Given the description of an element on the screen output the (x, y) to click on. 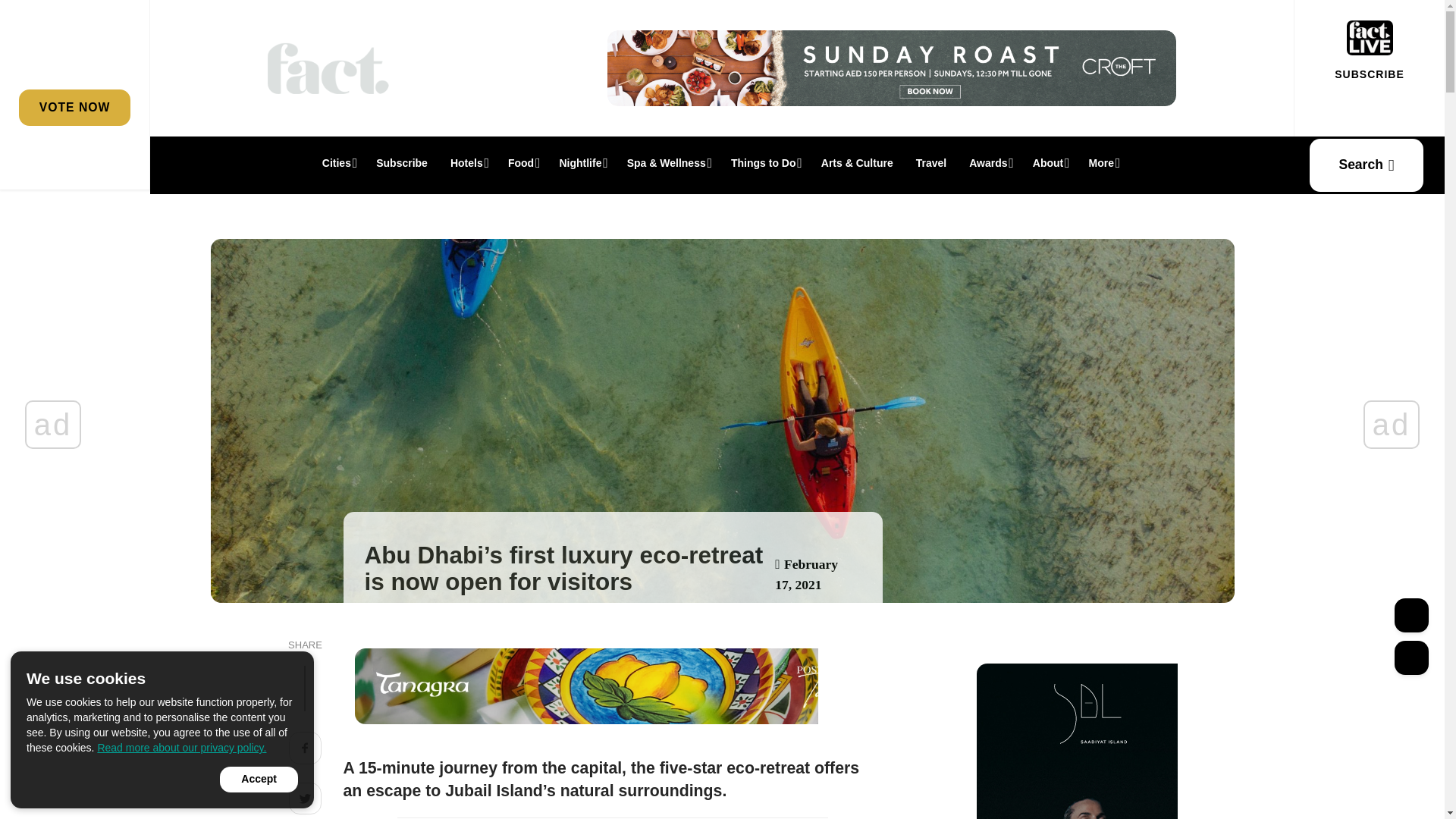
SUBSCRIBE (1369, 74)
Cities (338, 162)
VOTE NOW (74, 107)
Share on Facebook (304, 750)
Subscribe (402, 162)
Hotels (467, 162)
February 17, 2021 at 4:53 am (806, 574)
Share on Twitter (304, 800)
